Given the description of an element on the screen output the (x, y) to click on. 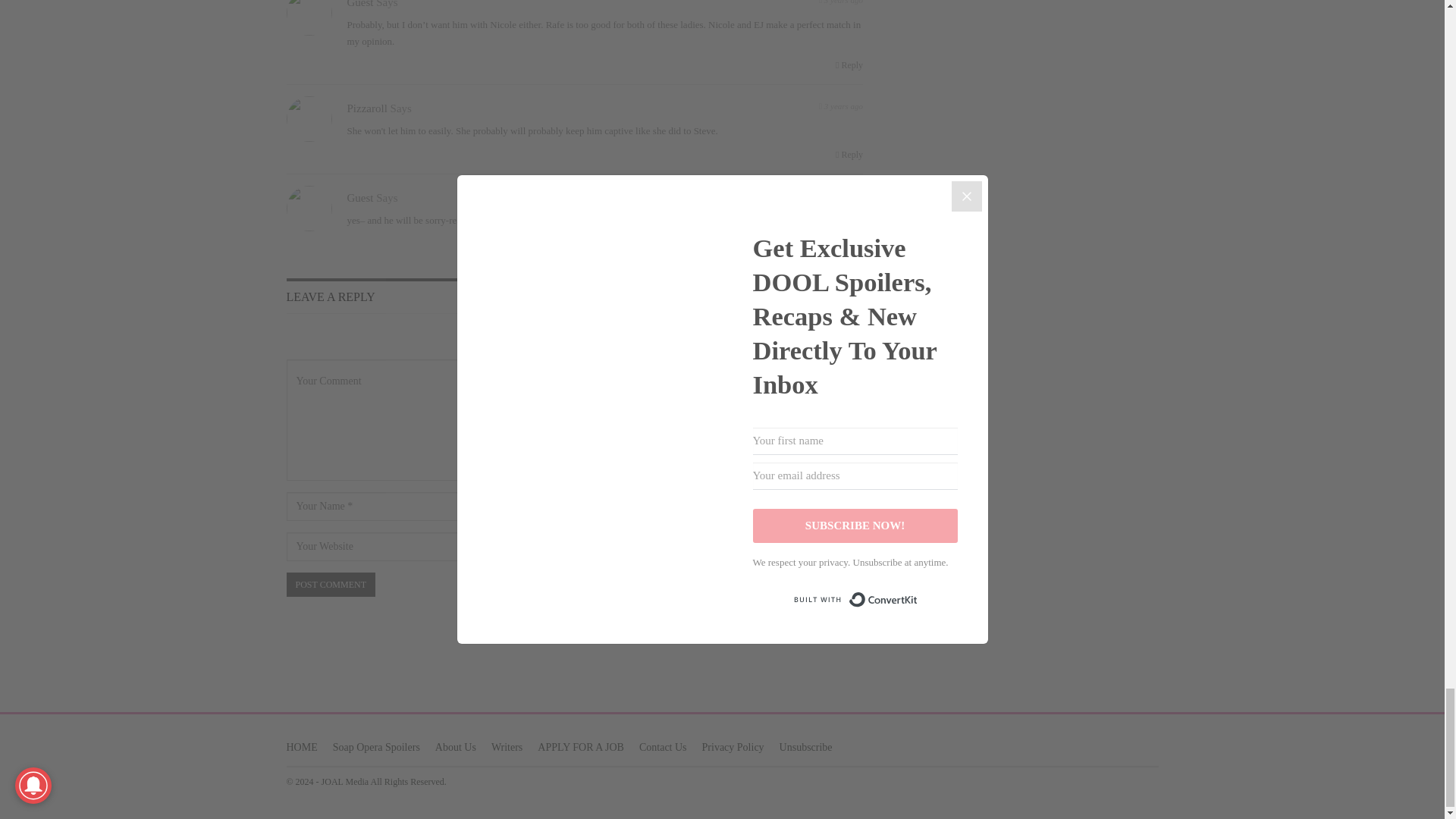
Post Comment (330, 584)
